Given the description of an element on the screen output the (x, y) to click on. 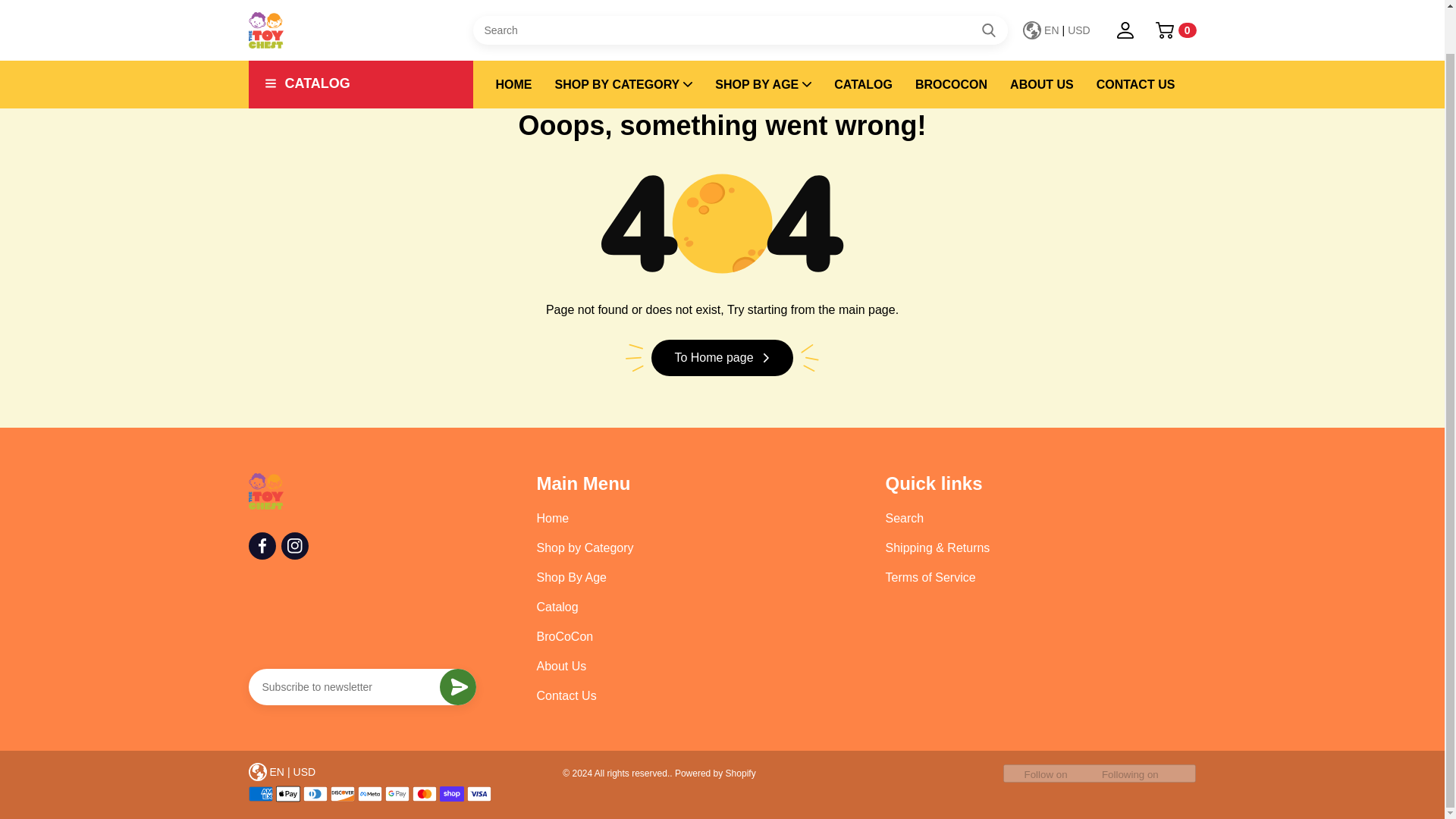
Diners Club (314, 793)
Meta Pay (369, 793)
American Express (260, 793)
Google Pay (397, 793)
Discover (342, 793)
Apple Pay (287, 793)
CATALOG (360, 38)
